Given the description of an element on the screen output the (x, y) to click on. 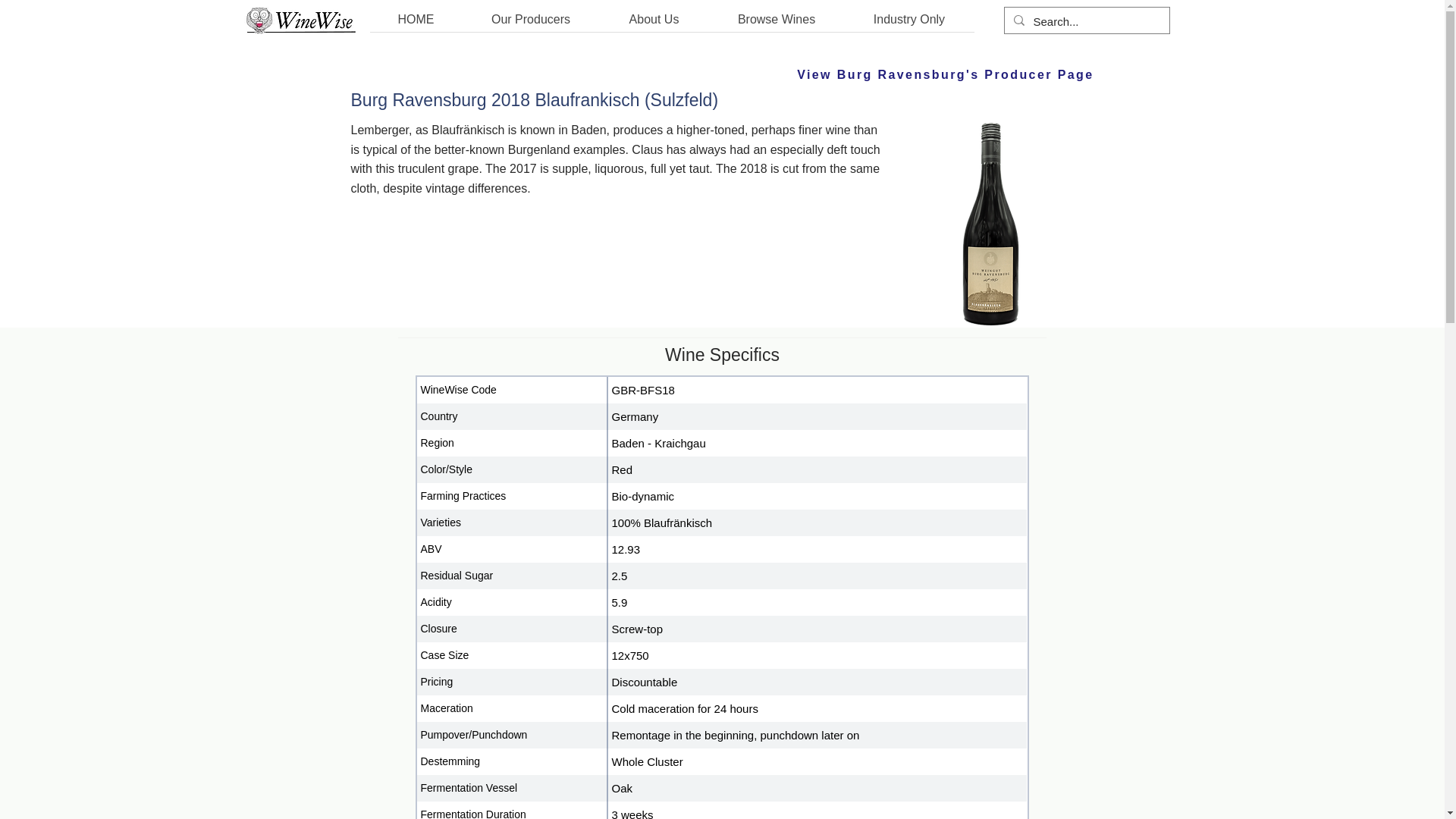
Industry Only (909, 23)
About Us (652, 23)
Our Producers (531, 23)
View Burg Ravensburg's Producer Page (833, 74)
Browse Wines (775, 23)
HOME (416, 23)
GBR-BFS17.png (990, 223)
